Given the description of an element on the screen output the (x, y) to click on. 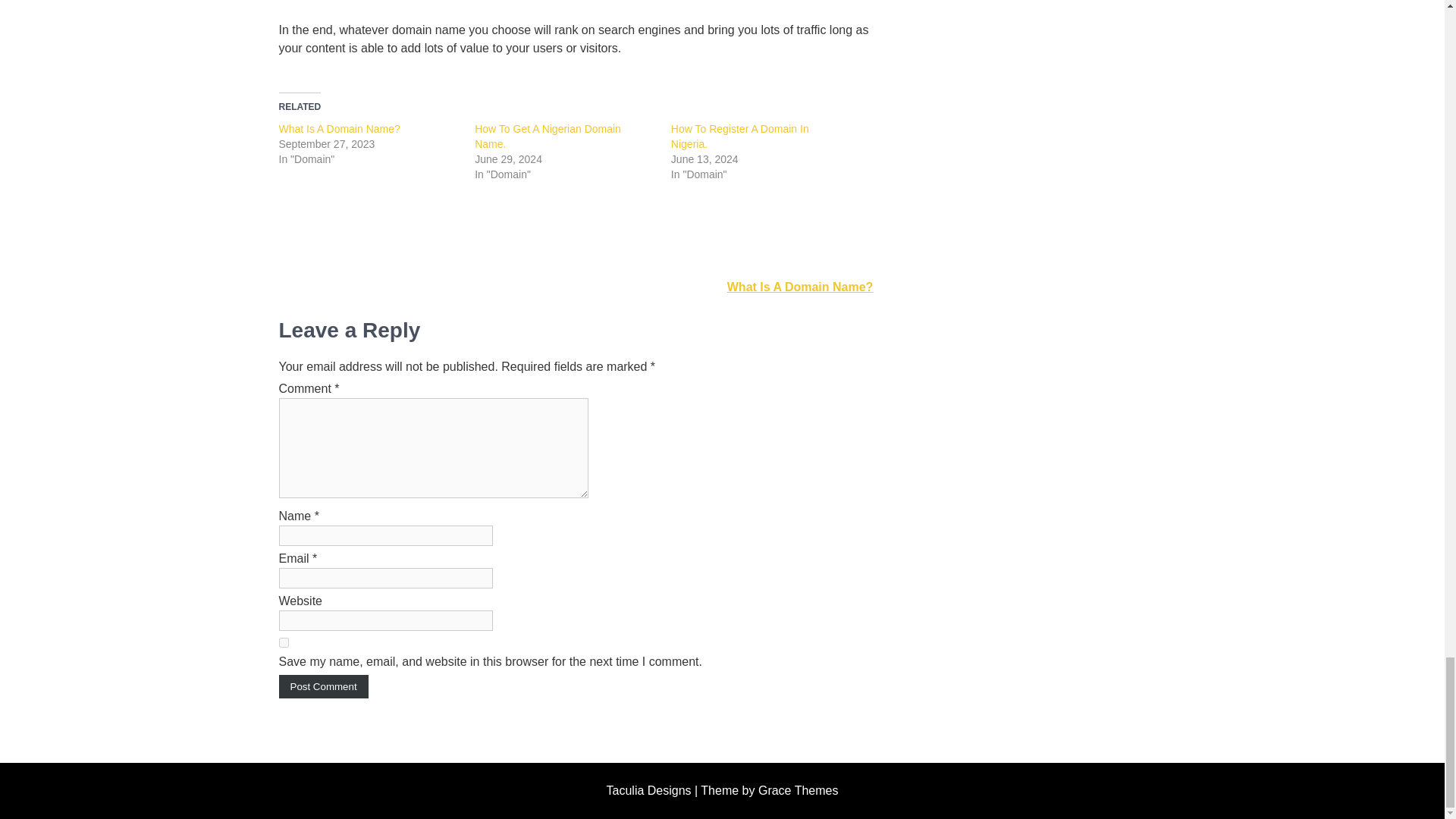
How To Get A Nigerian Domain Name. (547, 135)
What Is A Domain Name? (799, 286)
How To Register A Domain In Nigeria. (740, 135)
How To Get A Nigerian Domain Name. (547, 135)
yes (283, 642)
What Is A Domain Name? (339, 128)
Post Comment (323, 686)
Post Comment (323, 686)
How To Register A Domain In Nigeria. (740, 135)
What Is A Domain Name? (339, 128)
